Given the description of an element on the screen output the (x, y) to click on. 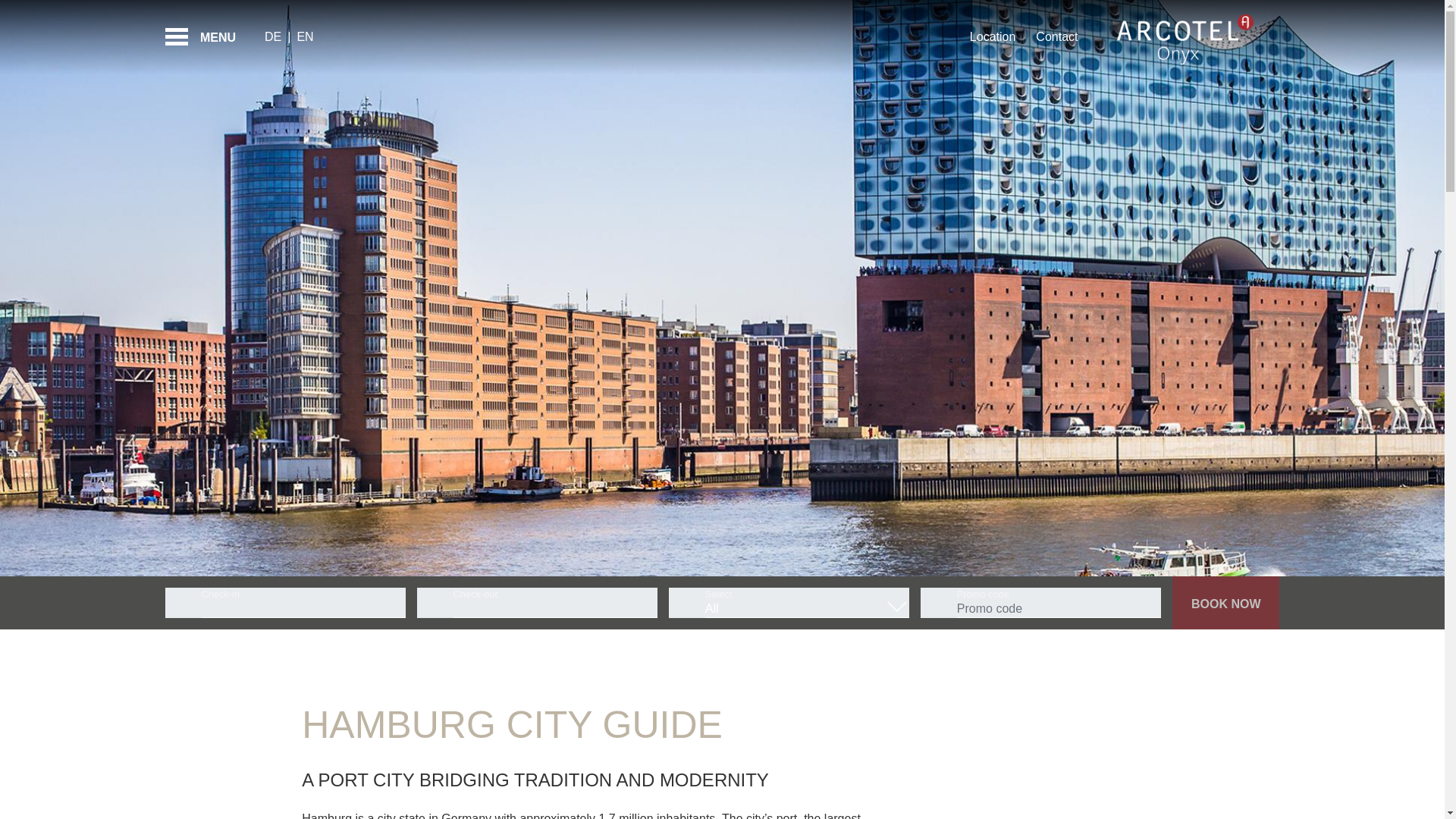
Home (1184, 37)
EN (307, 36)
Contact us (1051, 36)
Where we are (989, 36)
DE (275, 36)
Contact (1051, 36)
MENU (206, 37)
Location (989, 36)
